Given the description of an element on the screen output the (x, y) to click on. 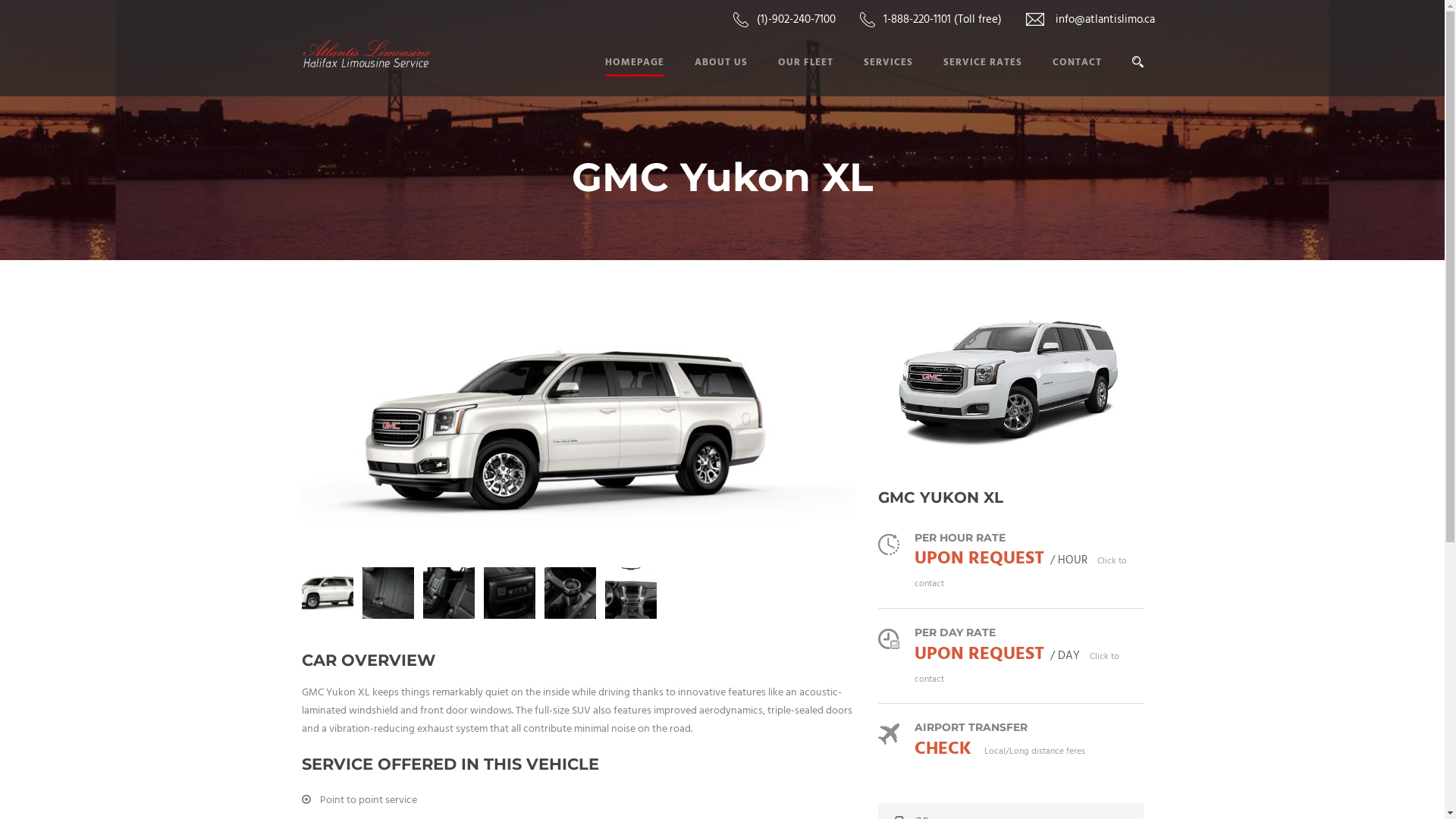
CONTACT Element type: text (1061, 74)
SERVICE RATES Element type: text (967, 74)
UPON REQUEST Element type: text (979, 654)
HOMEPAGE Element type: text (634, 74)
CHECK Element type: text (942, 748)
SERVICES Element type: text (872, 74)
OUR FLEET Element type: text (790, 74)
UPON REQUEST Element type: text (979, 558)
ABOUT US Element type: text (705, 74)
